Given the description of an element on the screen output the (x, y) to click on. 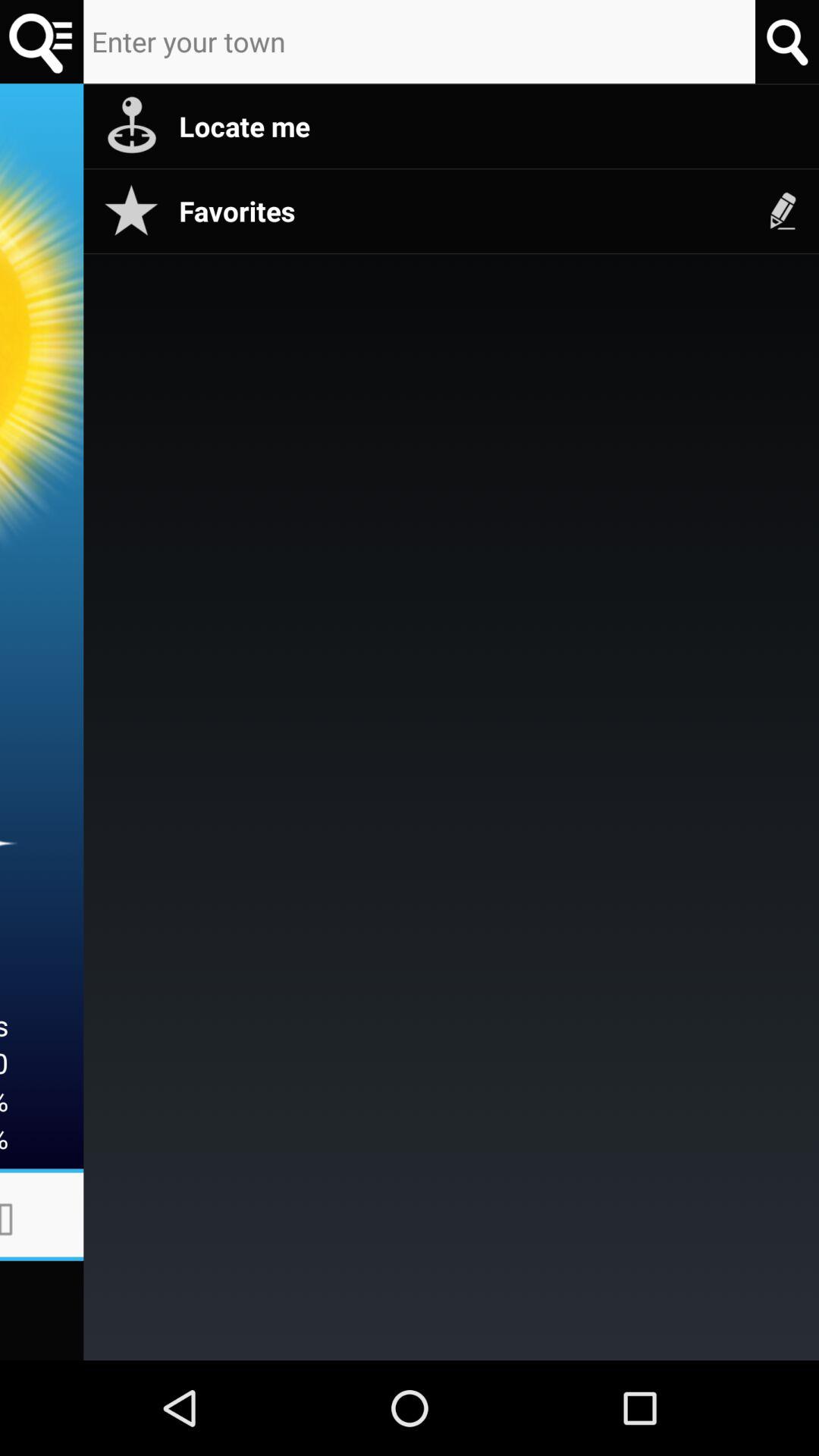
click to enter your town (419, 41)
